Given the description of an element on the screen output the (x, y) to click on. 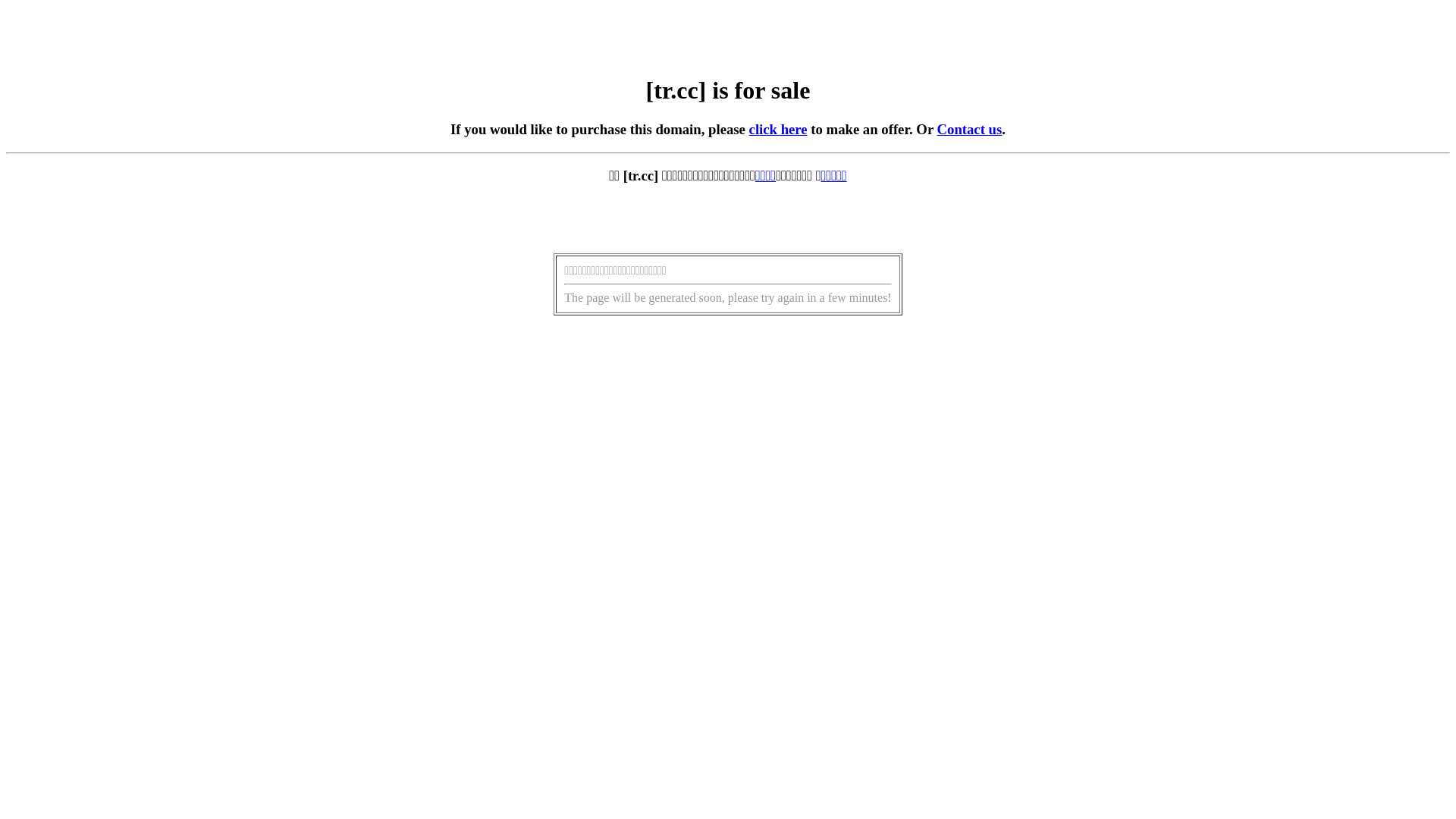
Contact us Element type: text (969, 129)
click here Element type: text (778, 129)
